Given the description of an element on the screen output the (x, y) to click on. 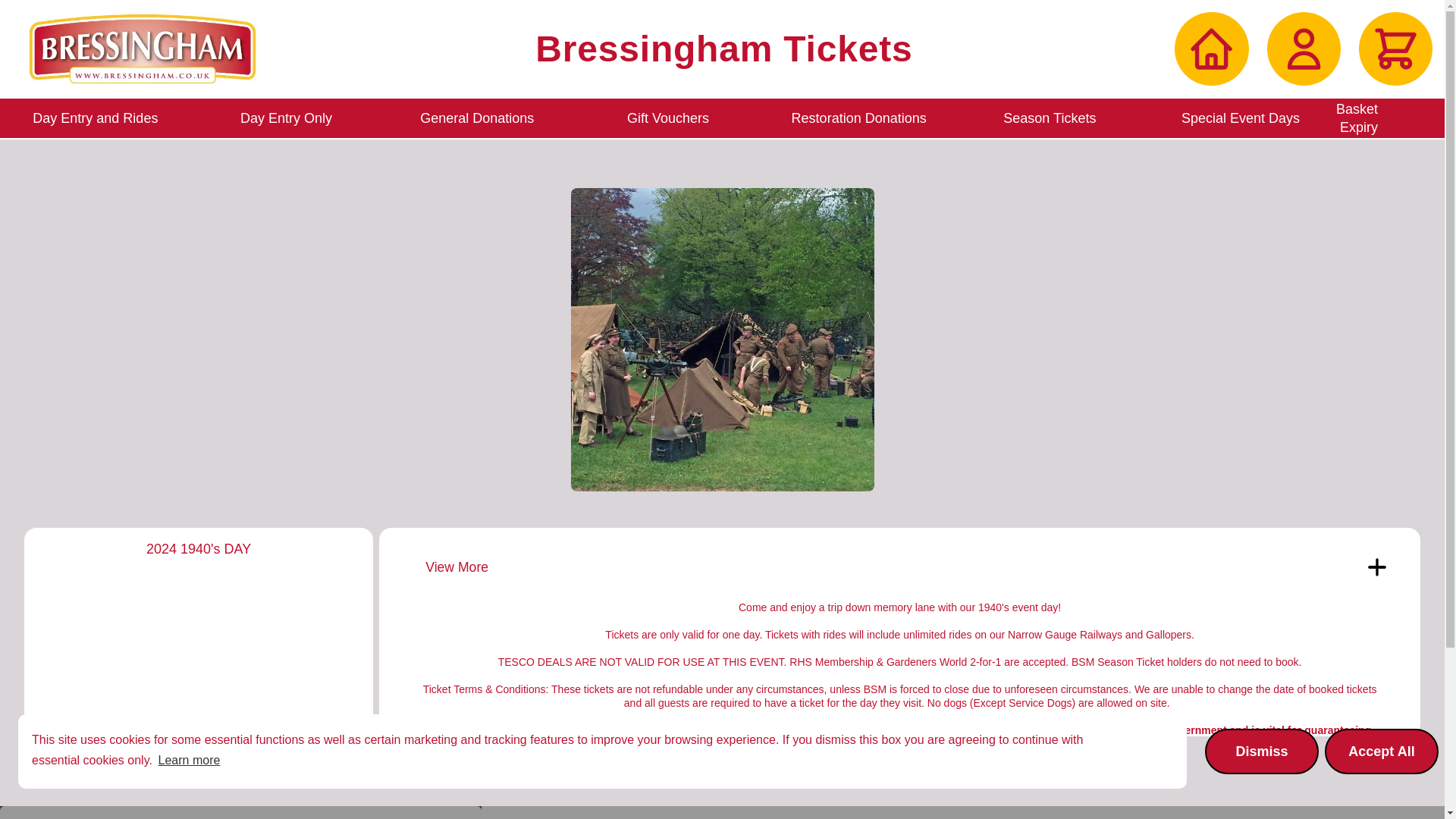
Learn more (188, 760)
Restoration Donations (858, 118)
Accept All (1381, 750)
Home (1210, 48)
Basket (1395, 48)
Season Tickets (1050, 118)
Gift Vouchers (667, 118)
Day Entry Only (285, 118)
General Donations (476, 118)
Day Entry and Rides (95, 118)
